Given the description of an element on the screen output the (x, y) to click on. 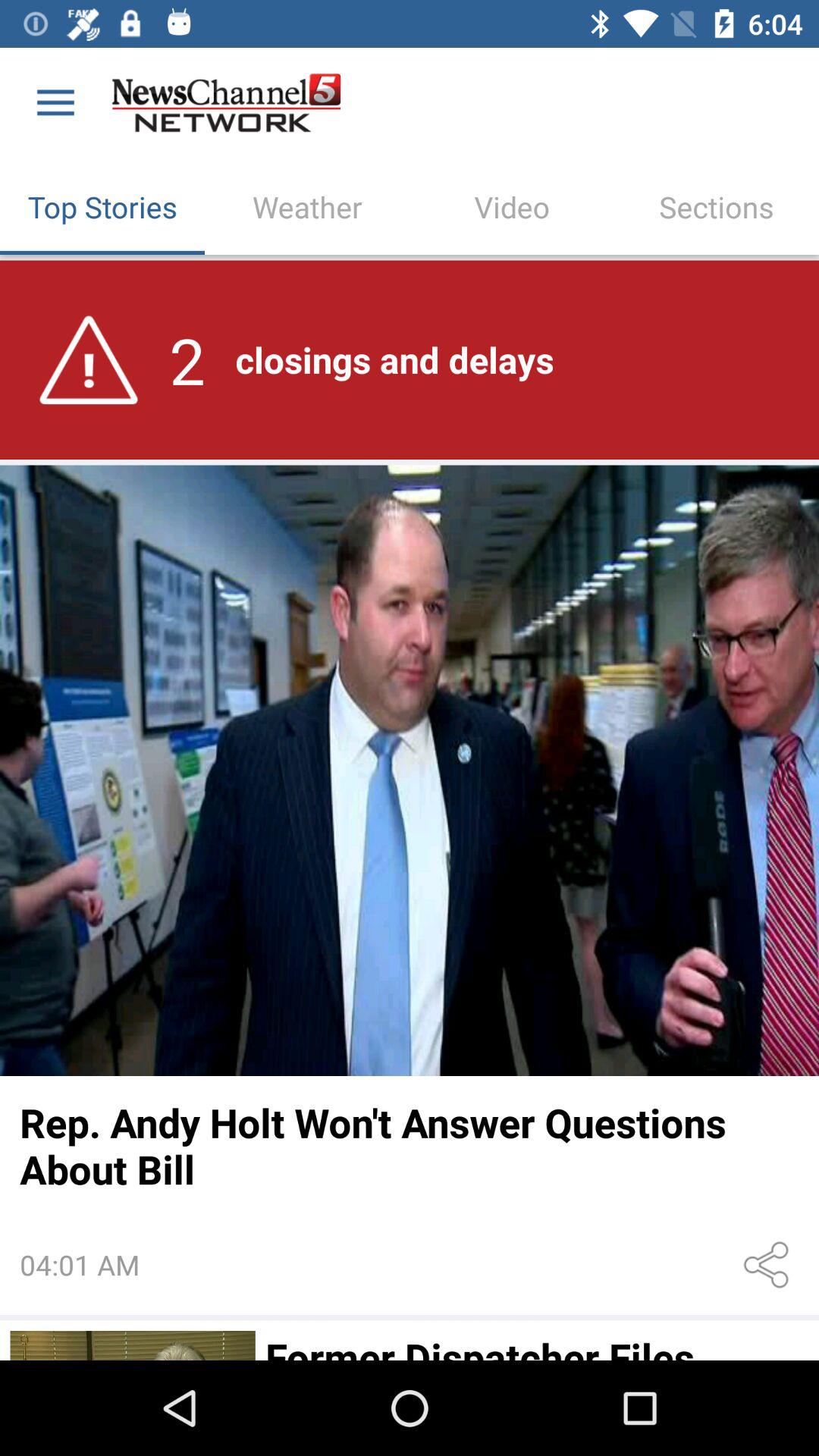
press item at the bottom right corner (769, 1265)
